Given the description of an element on the screen output the (x, y) to click on. 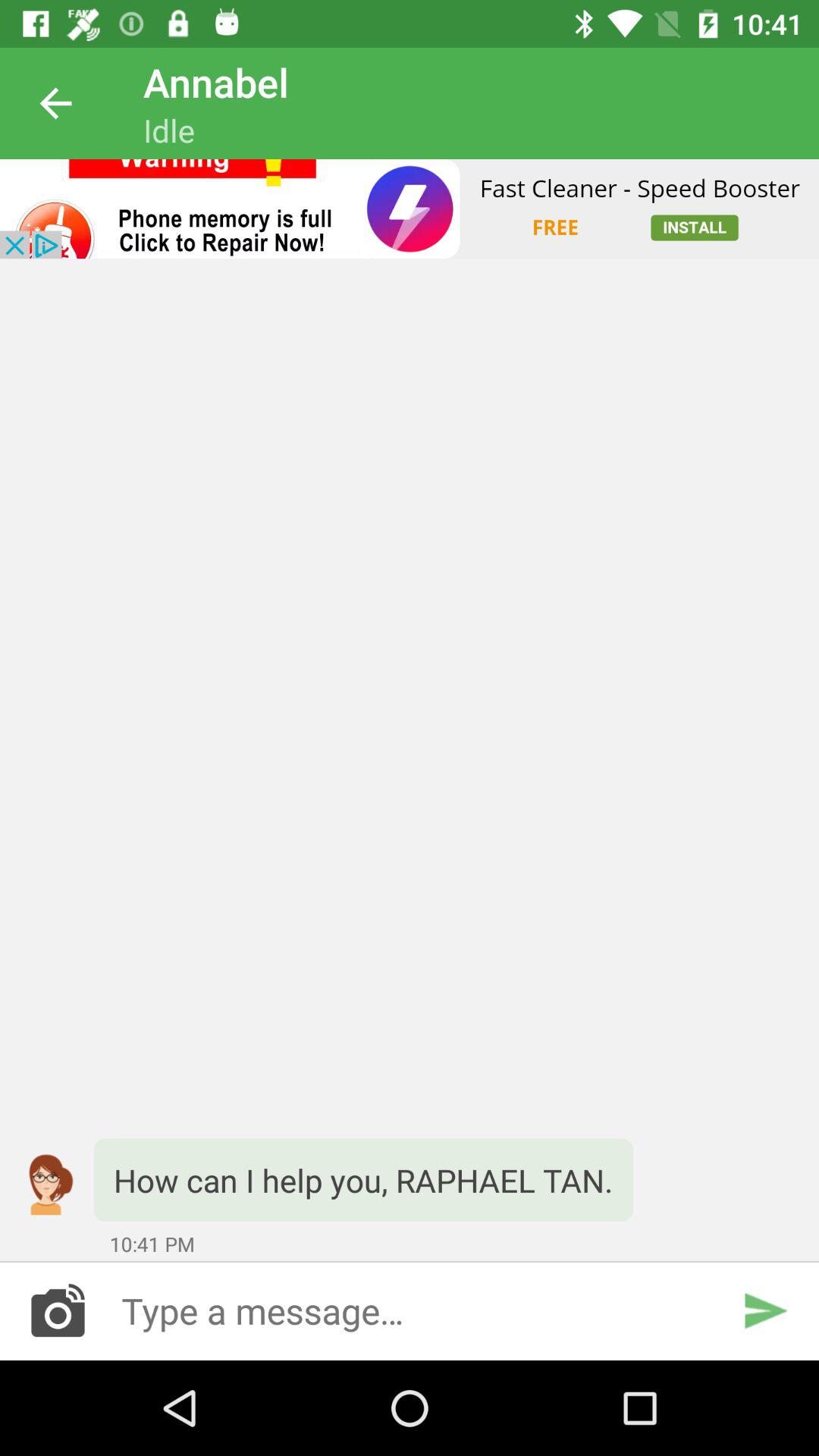
type message (409, 1310)
